Given the description of an element on the screen output the (x, y) to click on. 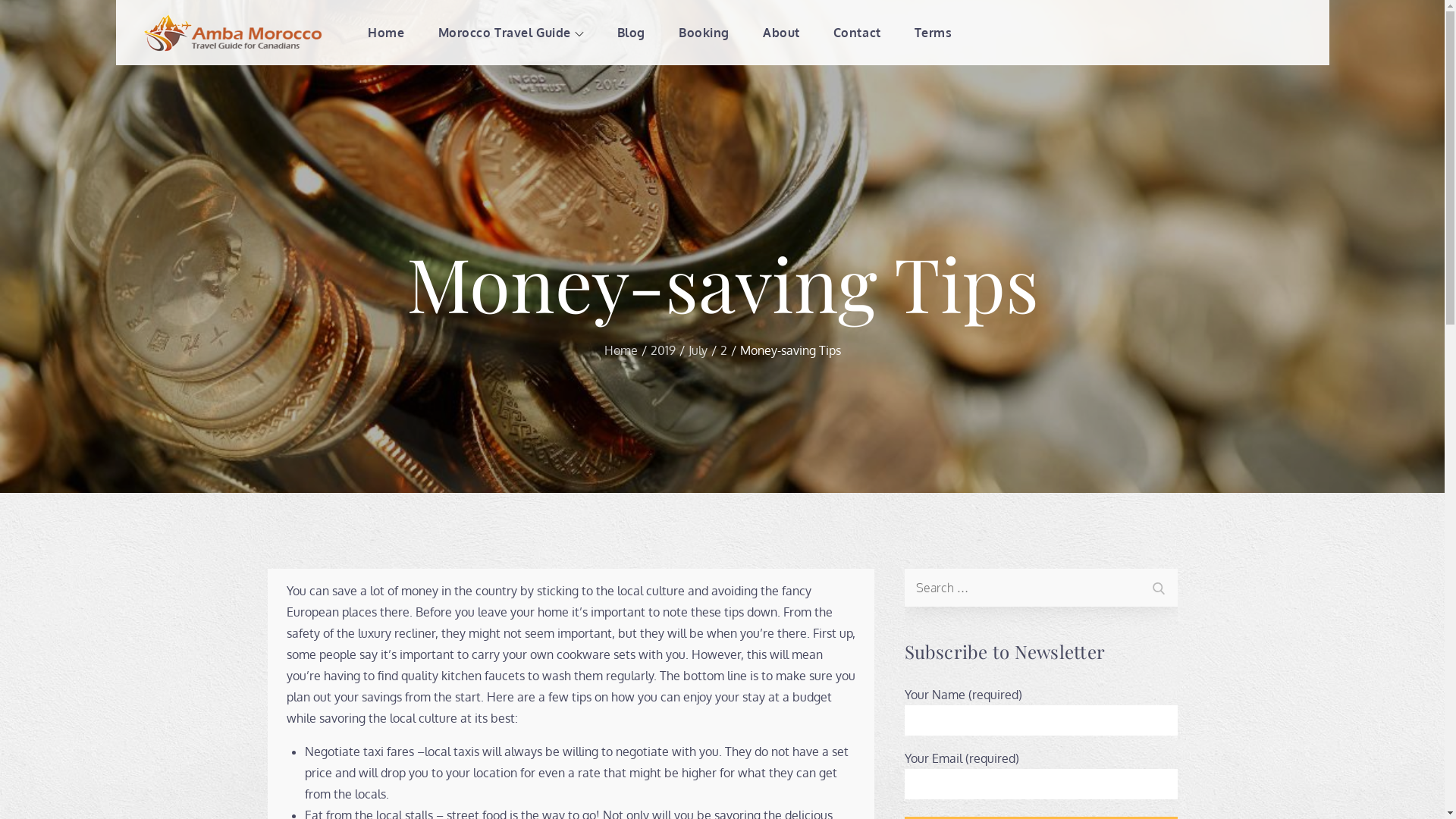
Home Element type: text (385, 32)
Terms Element type: text (933, 32)
About Element type: text (781, 32)
Booking Element type: text (703, 32)
Blog Element type: text (631, 32)
July Element type: text (697, 349)
2 Element type: text (723, 349)
Home Element type: text (620, 349)
Contact Element type: text (857, 32)
Search Element type: text (1157, 585)
Morocco Travel Guide Element type: text (511, 32)
2019 Element type: text (662, 349)
